Given the description of an element on the screen output the (x, y) to click on. 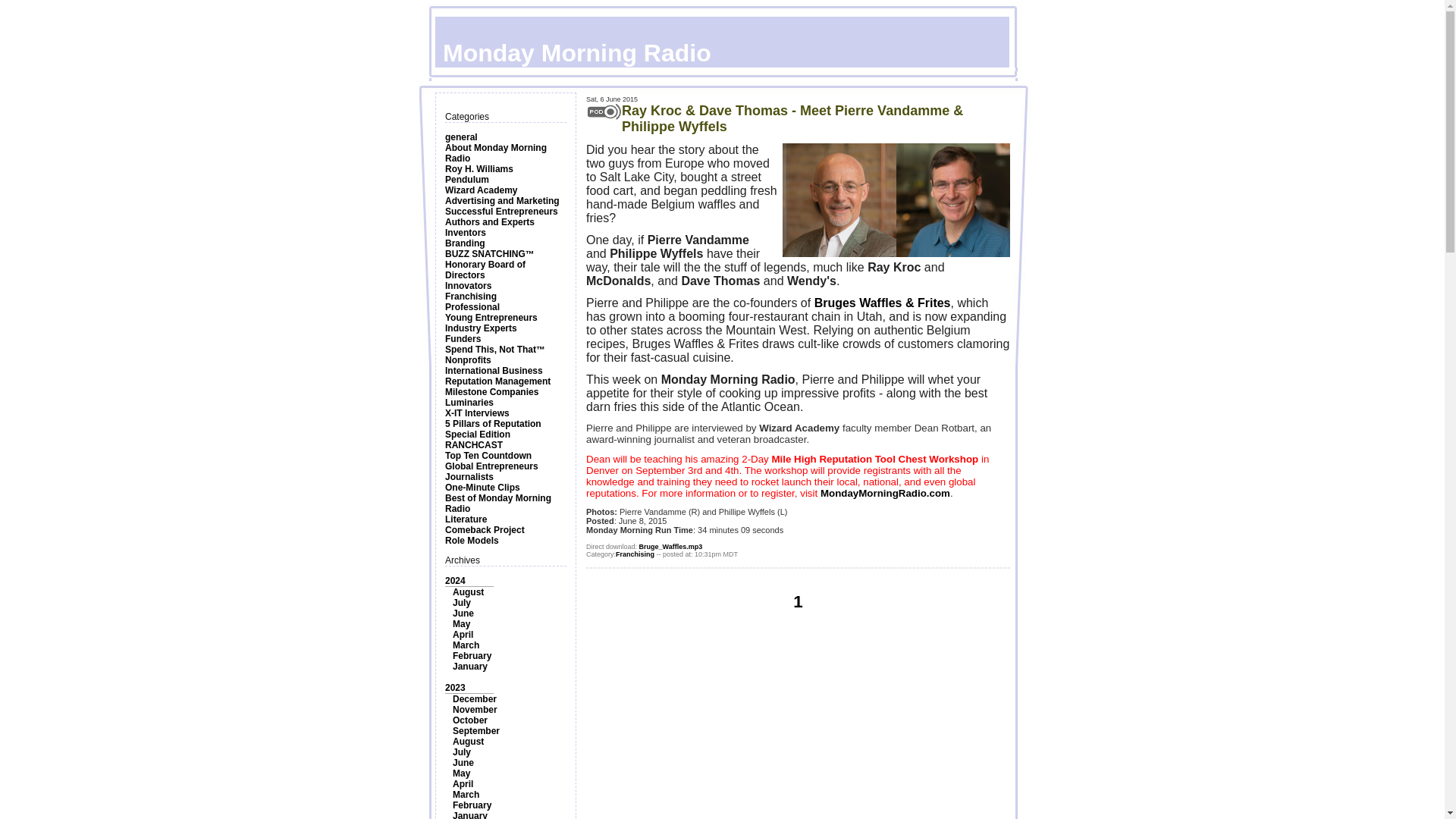
Special Edition (478, 434)
general (461, 136)
Successful Entrepreneurs (501, 211)
Comeback Project (484, 529)
Branding (464, 243)
Reputation Management (497, 380)
Global Entrepreneurs (491, 466)
International Business (494, 370)
Roy H. Williams (479, 168)
Professional (472, 307)
